Given the description of an element on the screen output the (x, y) to click on. 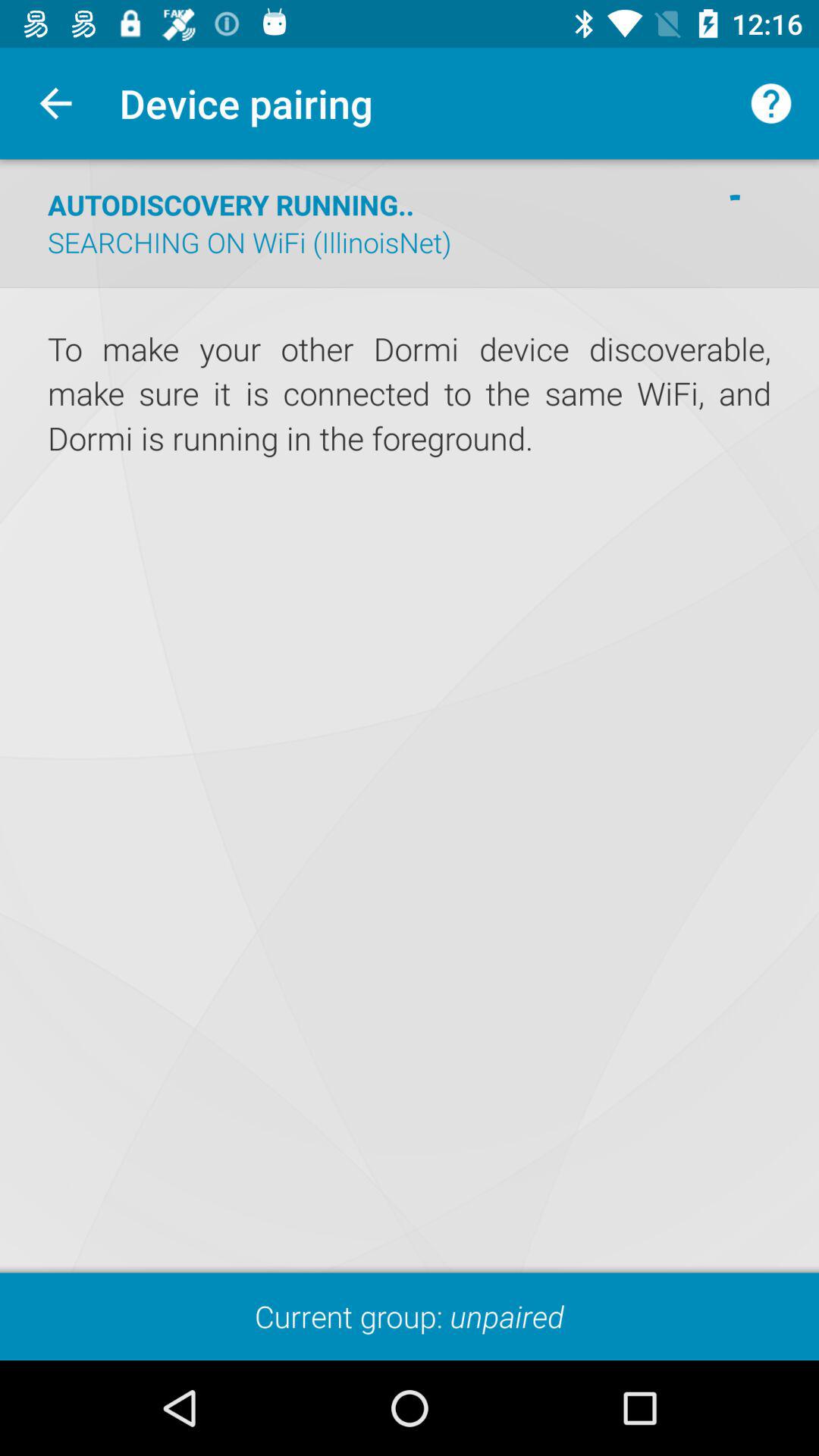
open the icon to the right of the device pairing app (771, 103)
